Given the description of an element on the screen output the (x, y) to click on. 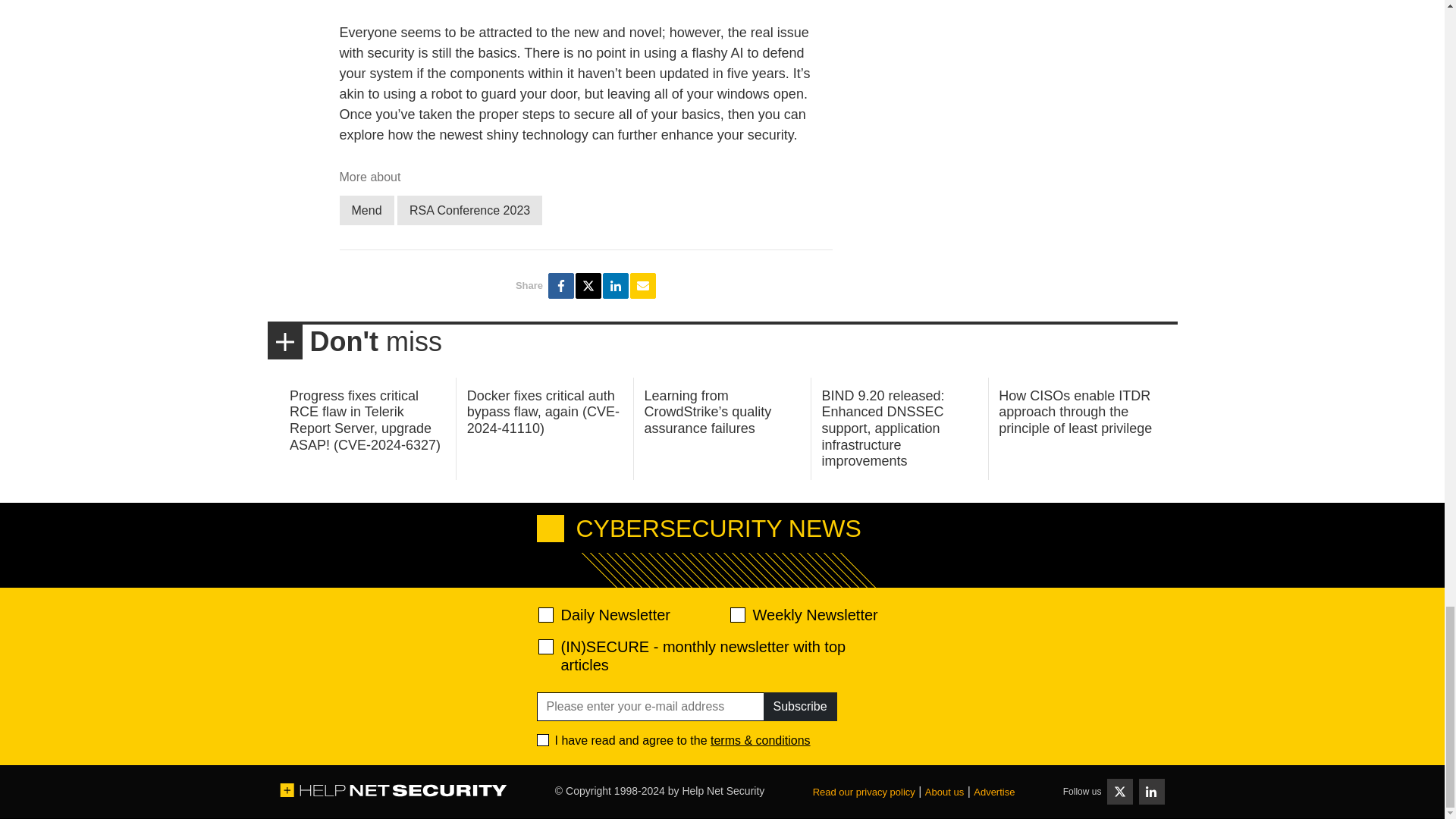
RSA Conference 2023 (469, 210)
1 (542, 739)
28abe5d9ef (545, 646)
RSA Conference 2023 (469, 210)
Mend (366, 210)
520ac2f639 (545, 614)
Mend (366, 210)
d2d471aafa (736, 614)
